Given the description of an element on the screen output the (x, y) to click on. 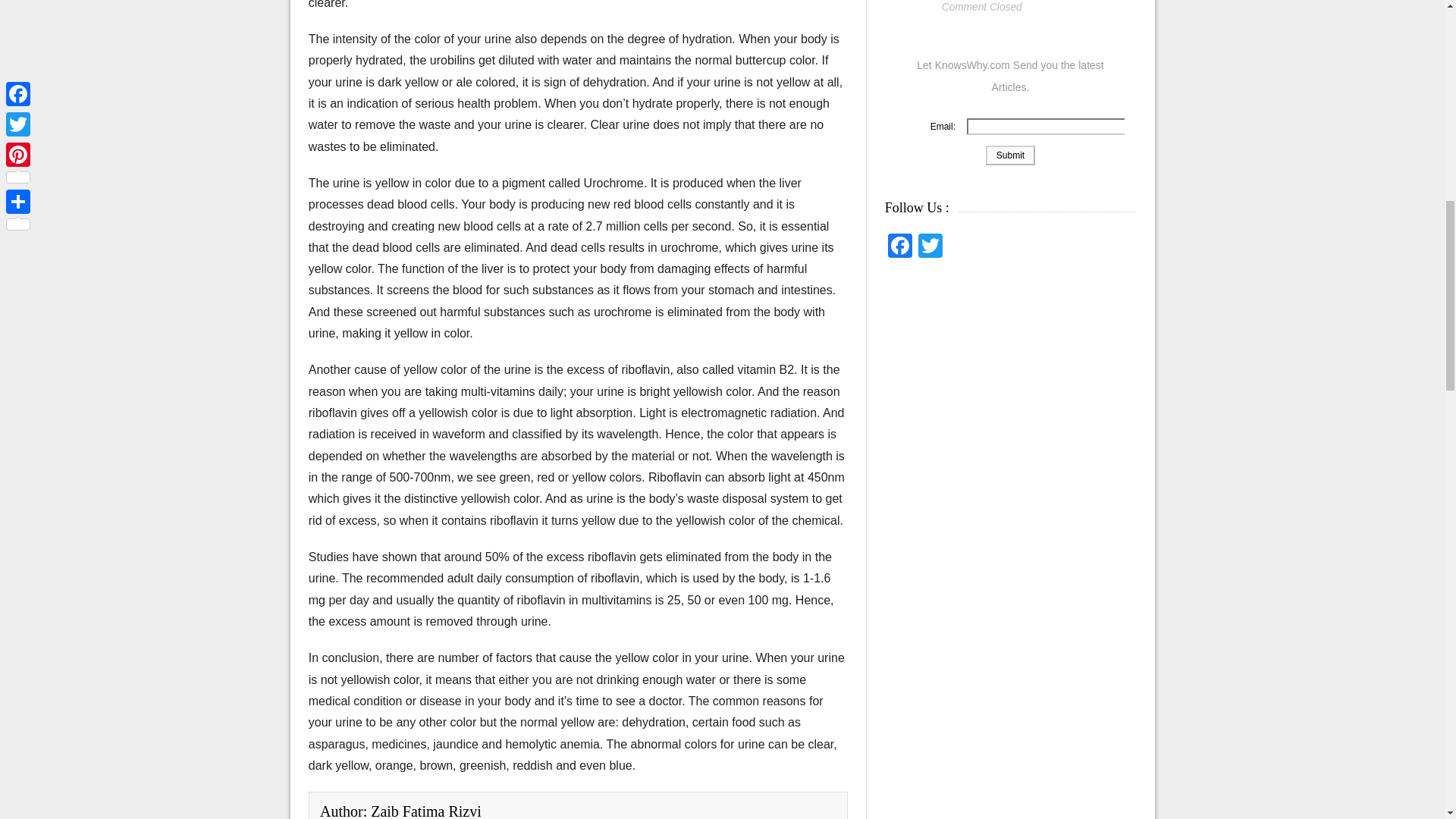
Submit (1010, 155)
